Given the description of an element on the screen output the (x, y) to click on. 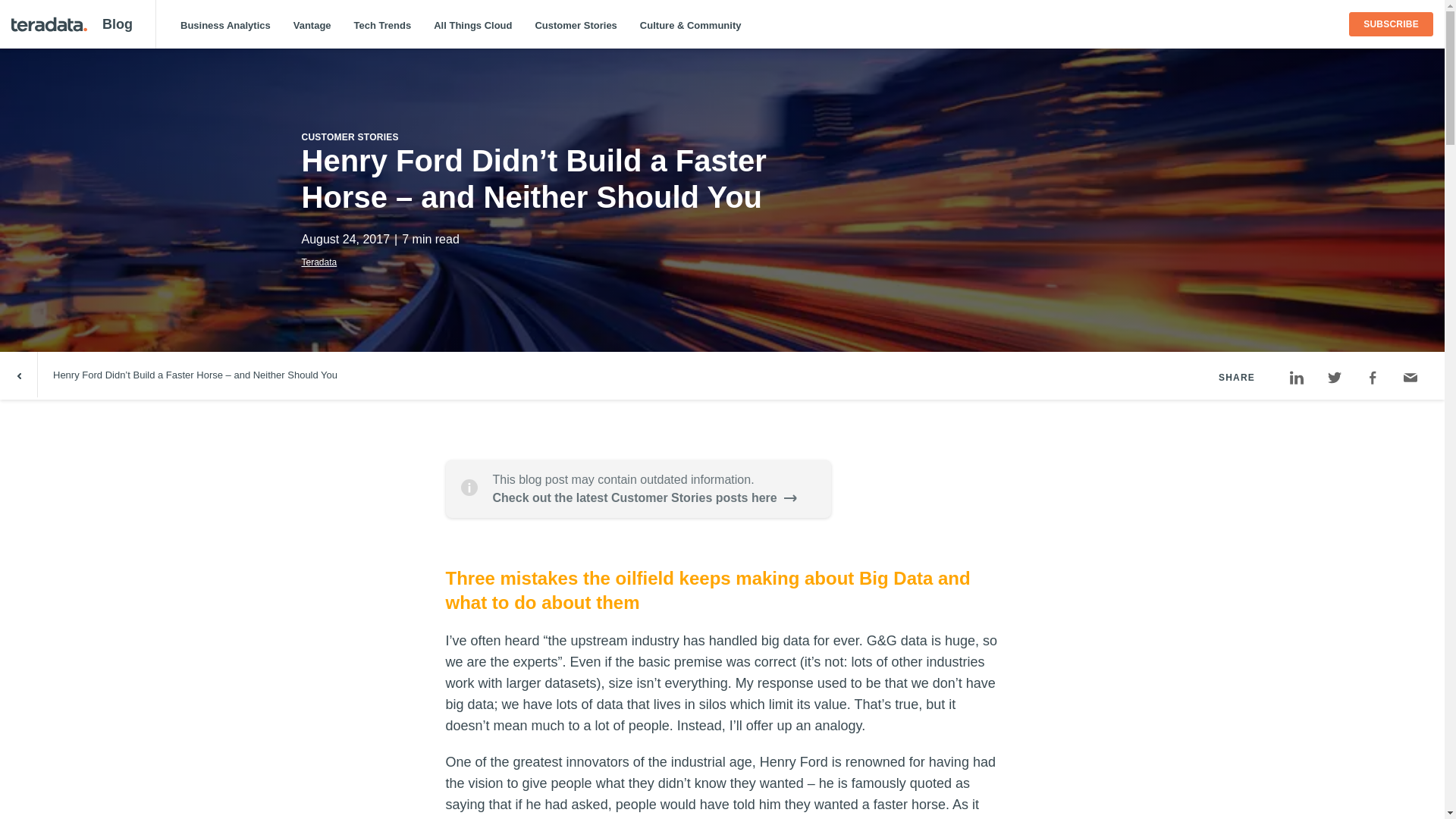
Business Analytics (225, 25)
Teradata (319, 262)
SUBSCRIBE (1390, 24)
Customer Stories (574, 25)
All Things Cloud (472, 25)
Tech Trends (382, 25)
Blog (116, 24)
Vantage (312, 25)
